Given the description of an element on the screen output the (x, y) to click on. 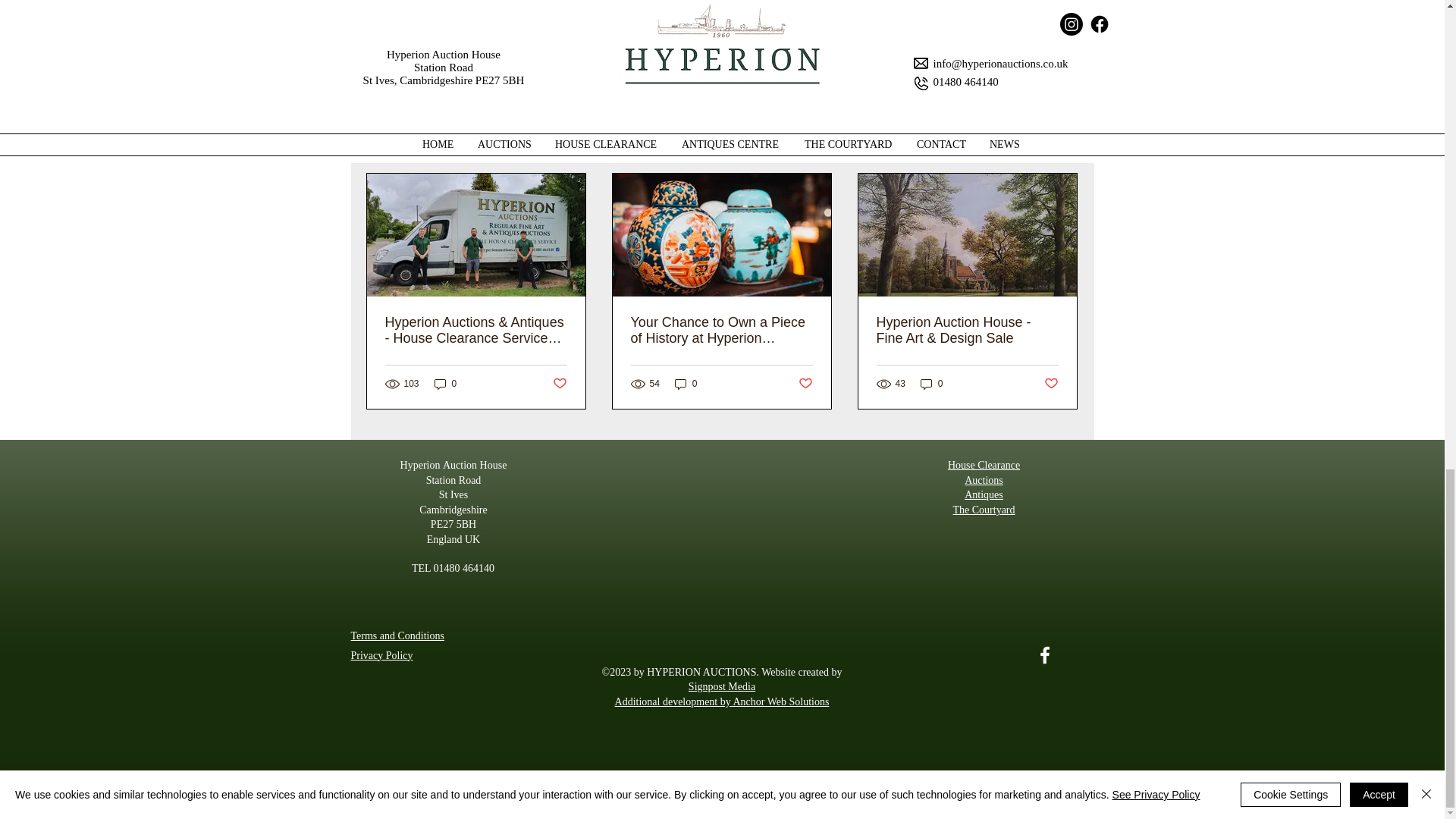
Post not marked as liked (995, 64)
See All (1061, 146)
House clearance (905, 19)
Antiques (981, 19)
Auctions (829, 19)
